Given the description of an element on the screen output the (x, y) to click on. 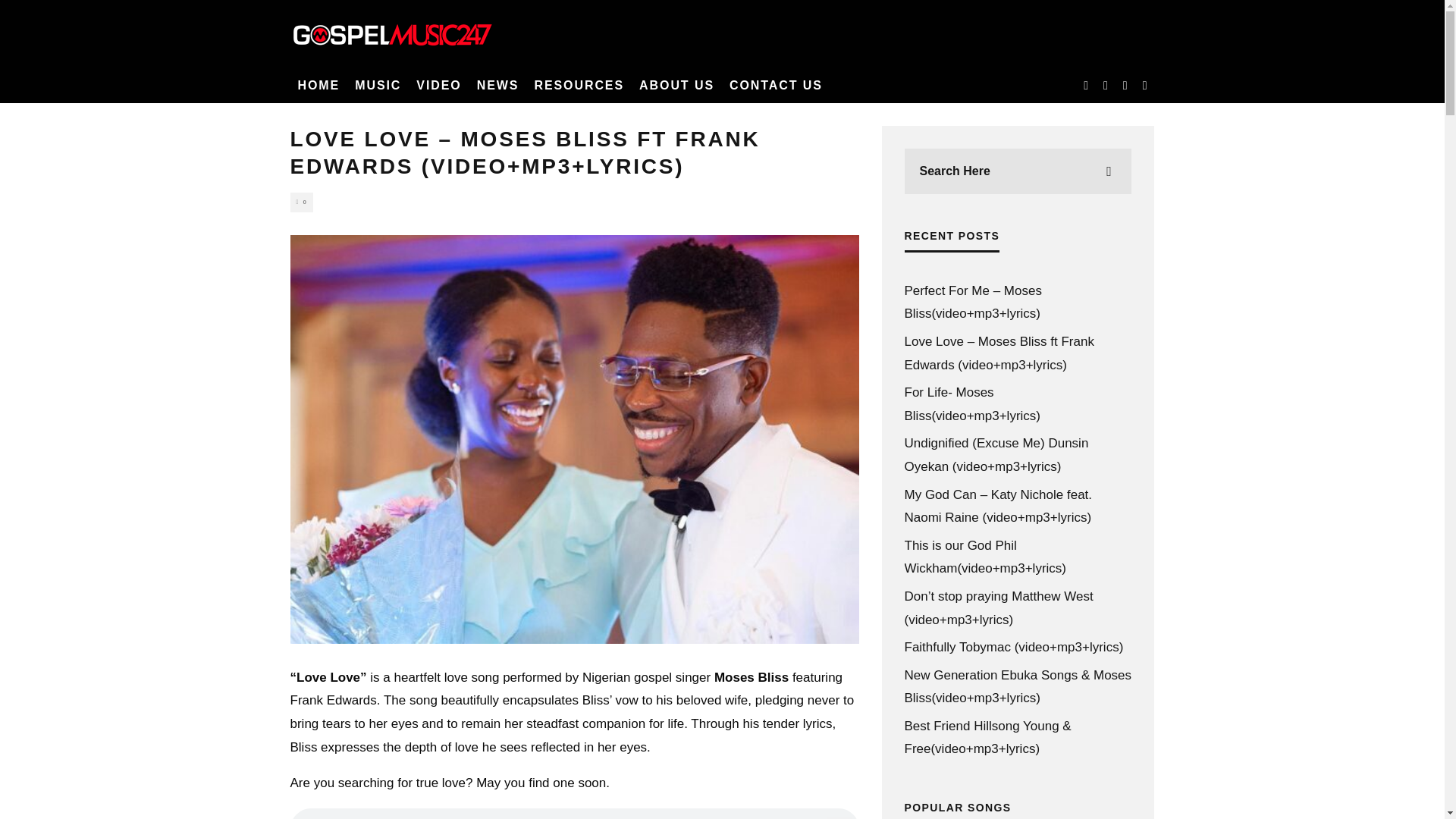
RESOURCES (578, 85)
0 (301, 202)
ABOUT US (676, 85)
NEWS (497, 85)
CONTACT US (775, 85)
HOME (318, 85)
MUSIC (378, 85)
VIDEO (438, 85)
